Given the description of an element on the screen output the (x, y) to click on. 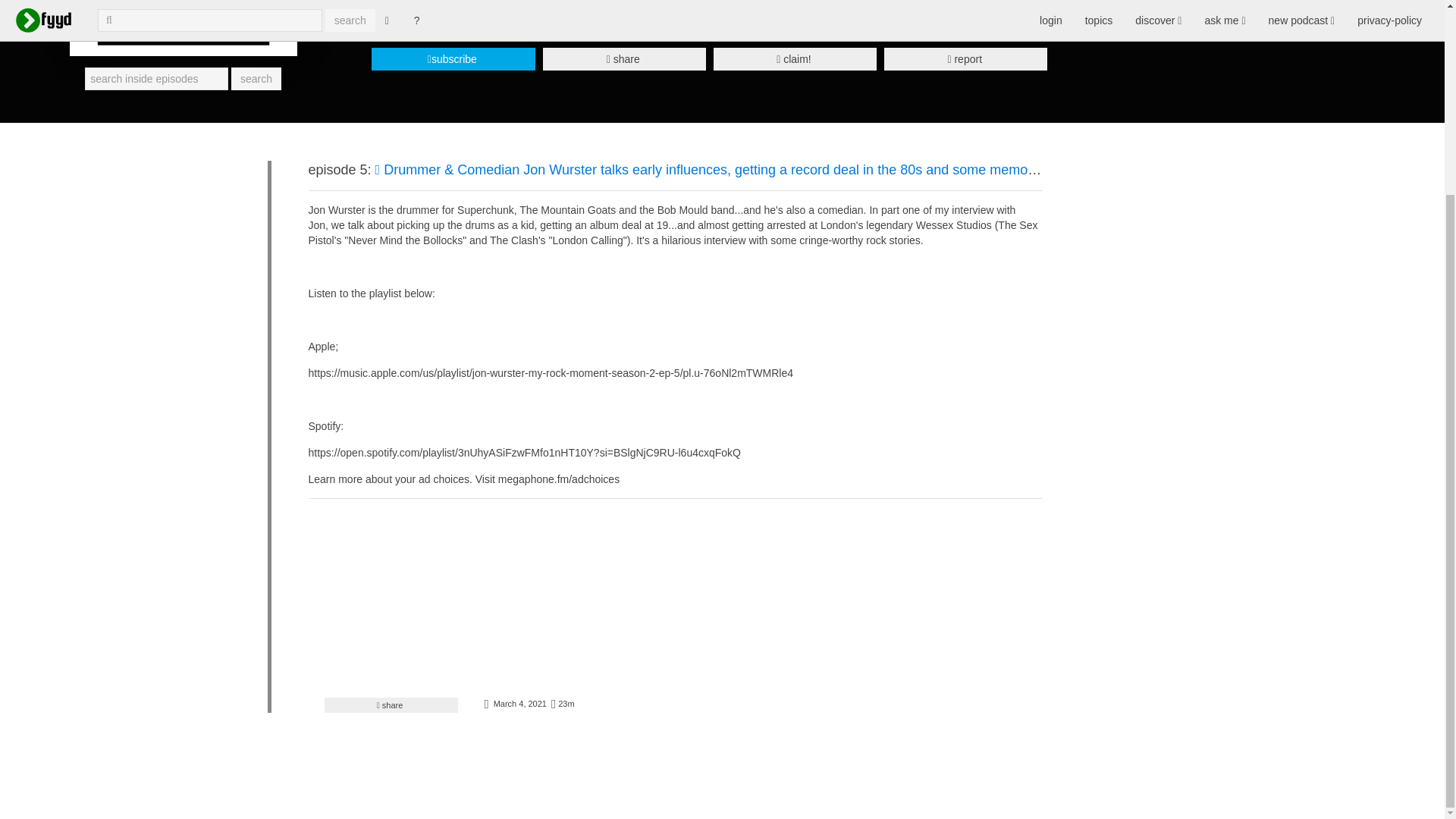
importiert :23.08.2022 22:10 (519, 703)
